Given the description of an element on the screen output the (x, y) to click on. 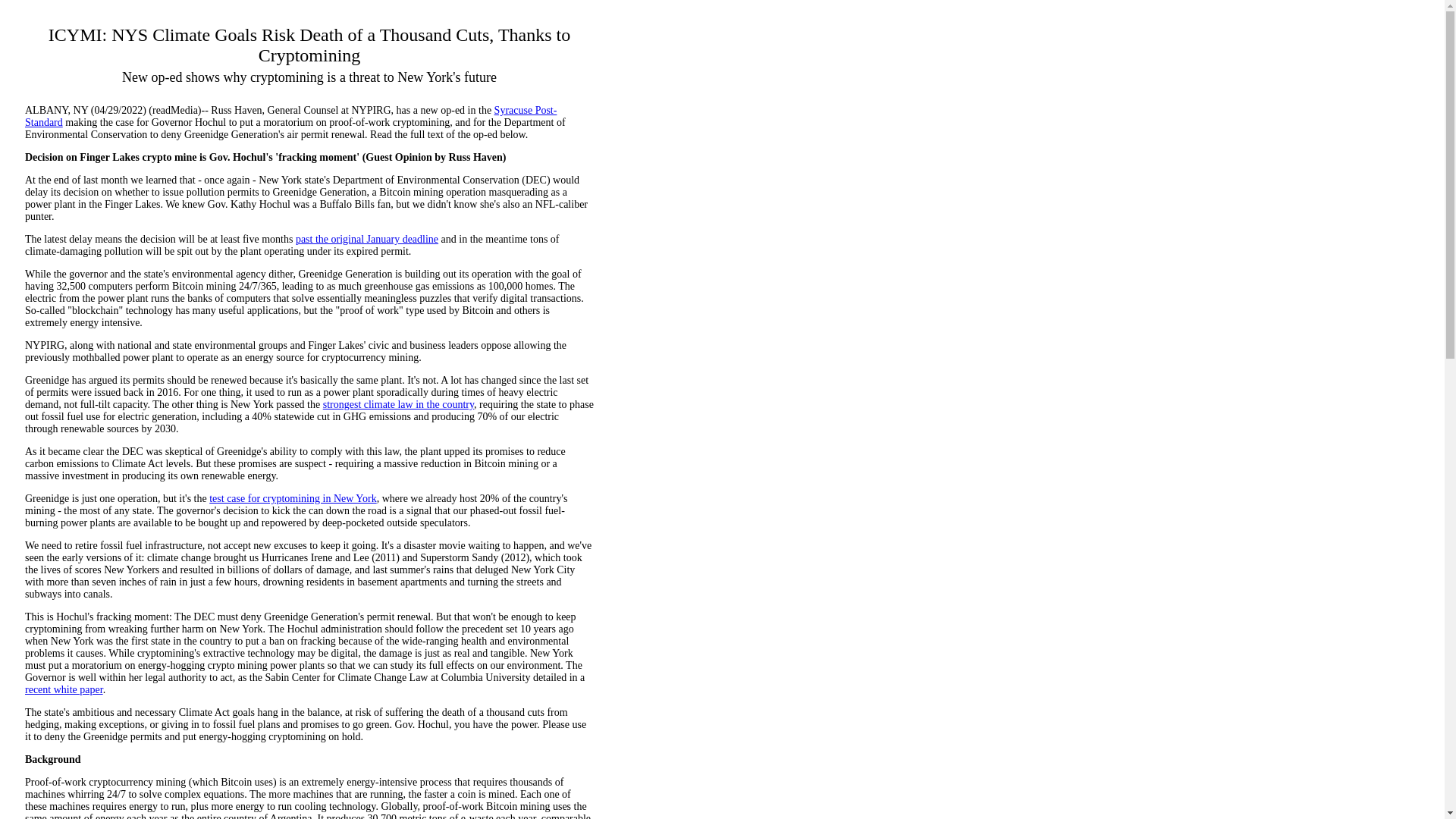
test case for cryptomining in New York (292, 498)
Syracuse Post-Standard (290, 115)
past the original January deadline (366, 238)
recent white paper (63, 689)
strongest climate law in the country (398, 404)
